Given the description of an element on the screen output the (x, y) to click on. 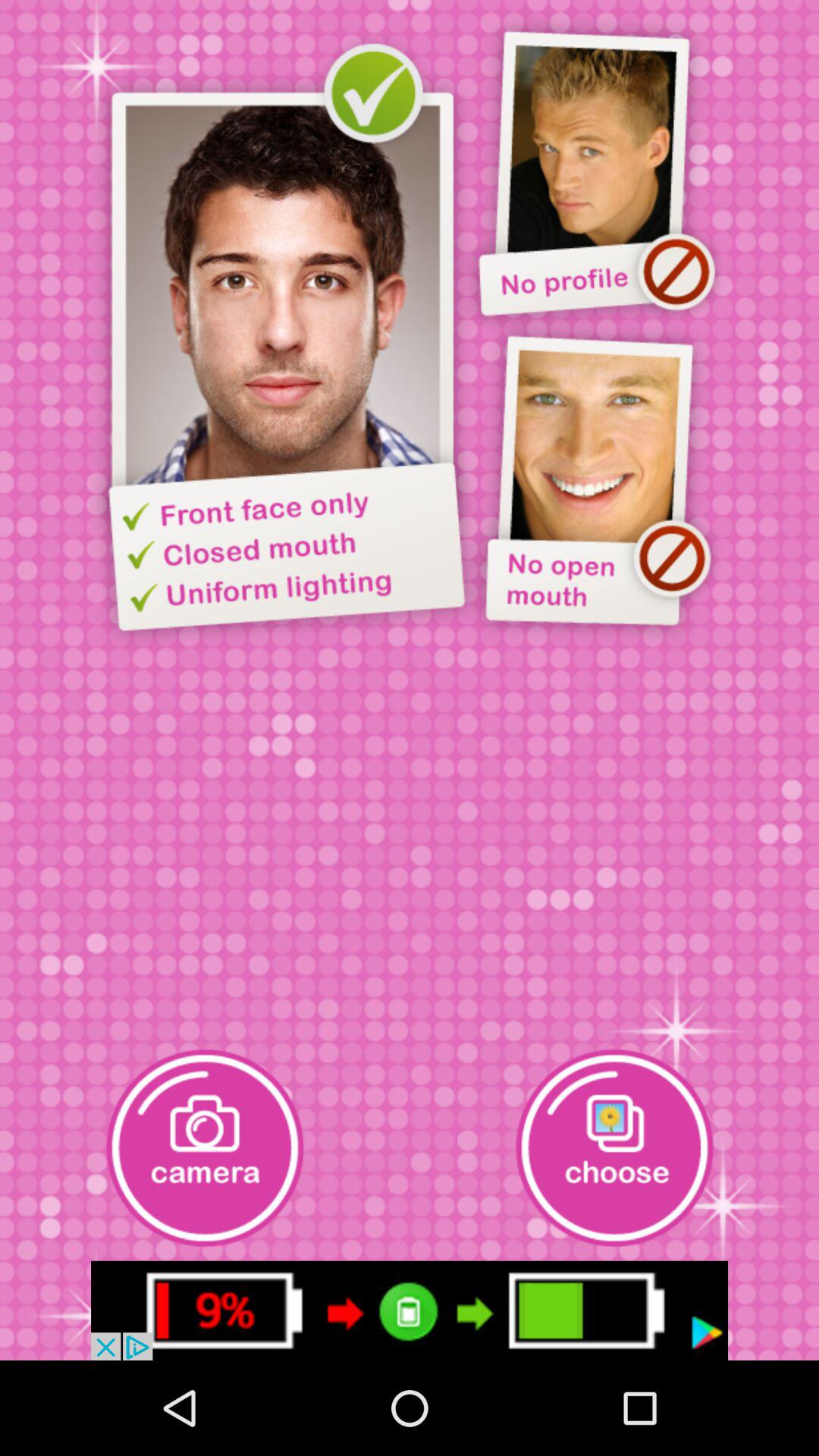
choose (613, 1147)
